Given the description of an element on the screen output the (x, y) to click on. 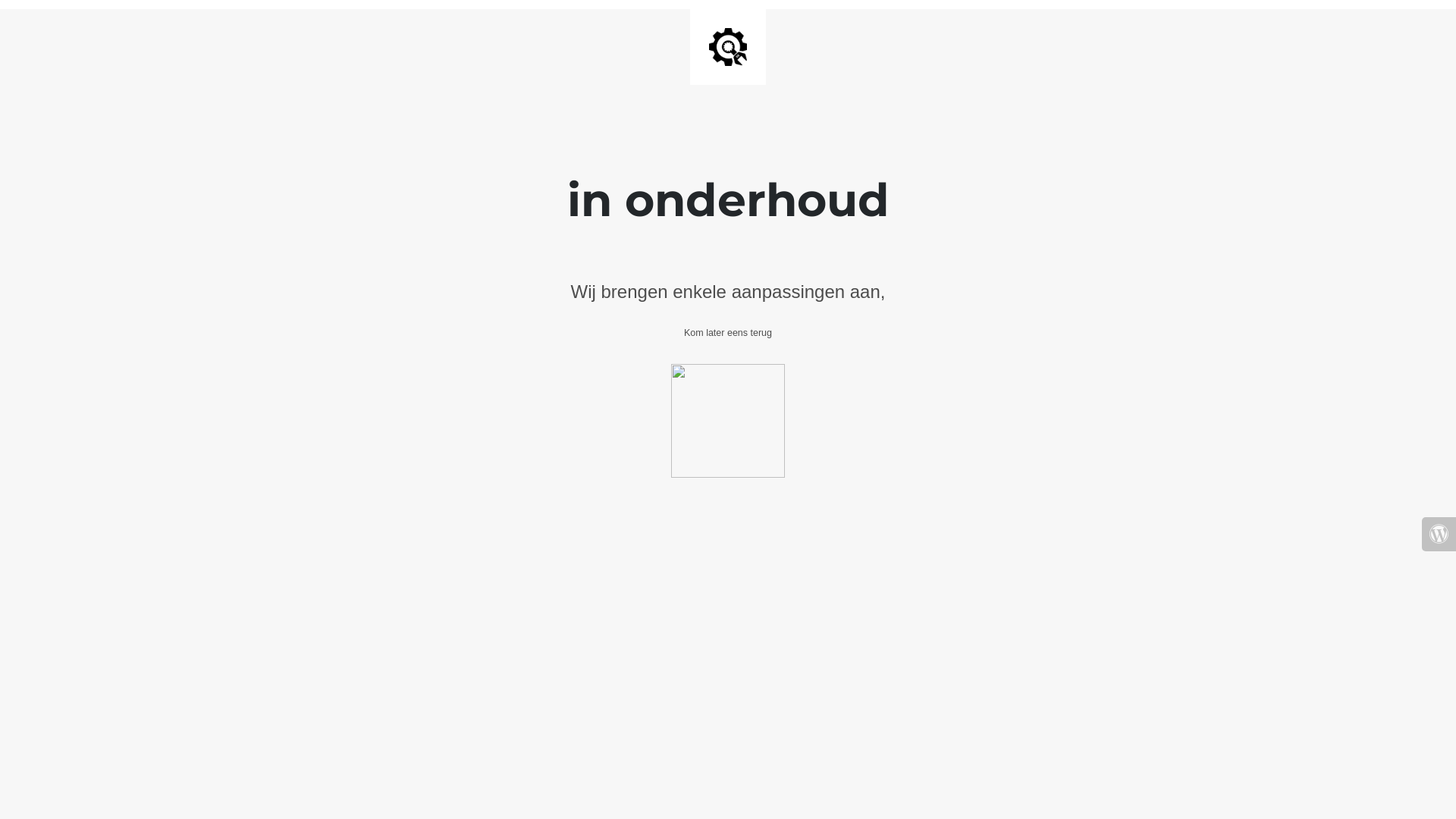
Site is Under Construction Element type: hover (727, 46)
